Given the description of an element on the screen output the (x, y) to click on. 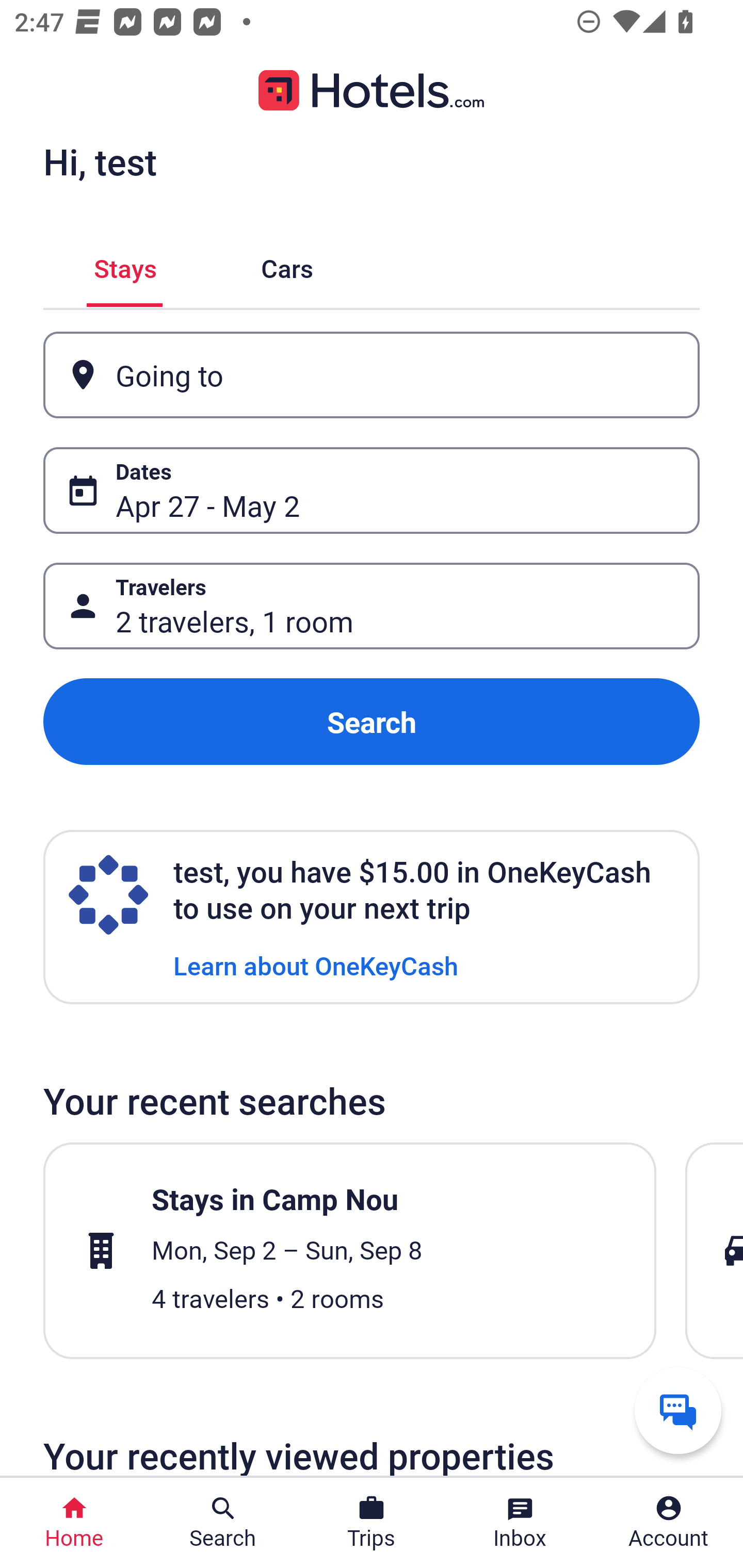
Hi, test (99, 161)
Cars (286, 265)
Going to Button (371, 375)
Dates Button Apr 27 - May 2 (371, 489)
Travelers Button 2 travelers, 1 room (371, 605)
Search (371, 721)
Learn about OneKeyCash Learn about OneKeyCash Link (315, 964)
Get help from a virtual agent (677, 1410)
Search Search Button (222, 1522)
Trips Trips Button (371, 1522)
Inbox Inbox Button (519, 1522)
Account Profile. Button (668, 1522)
